Given the description of an element on the screen output the (x, y) to click on. 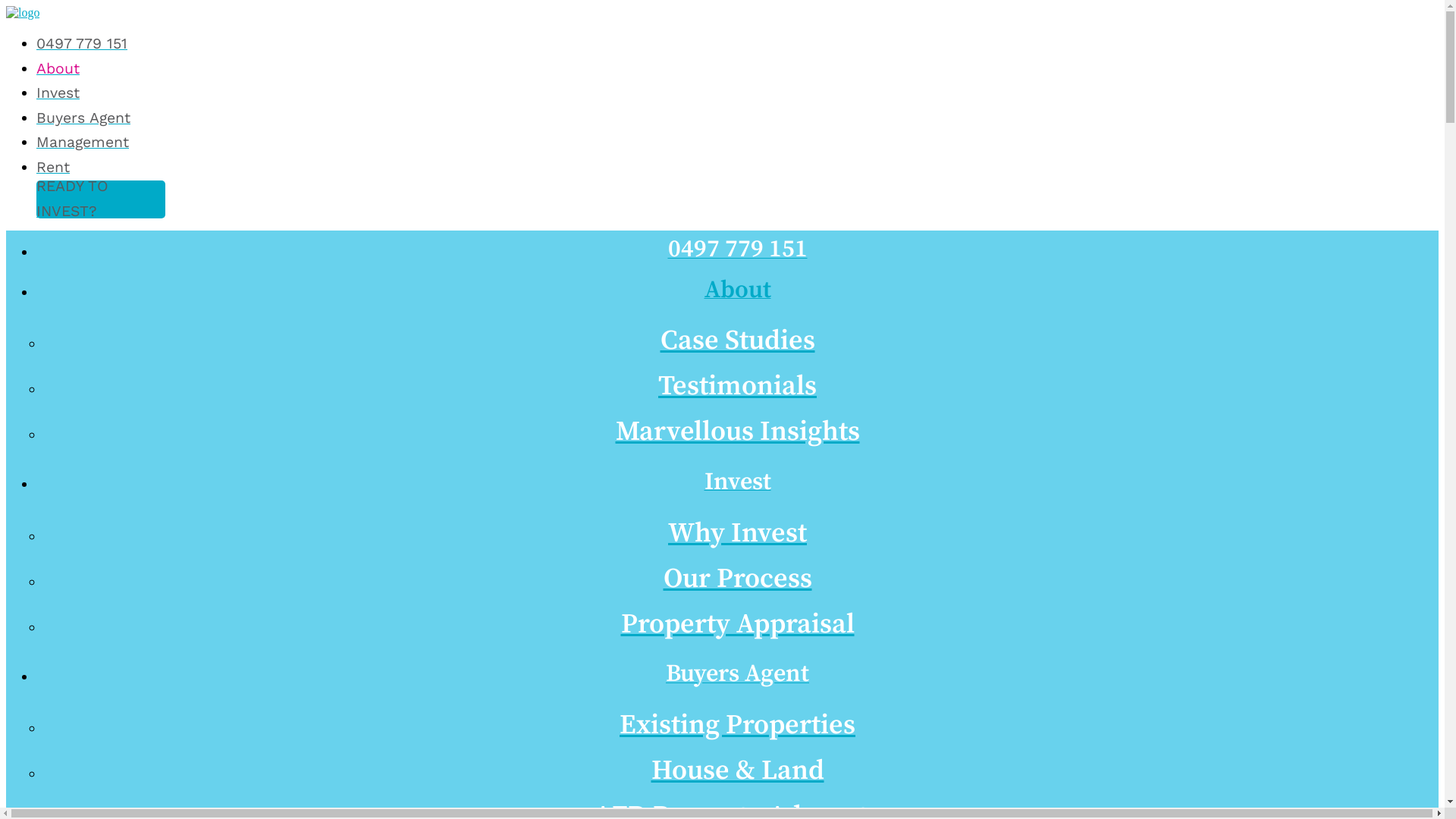
Management Element type: text (82, 141)
Marvel Realty Element type: hover (22, 12)
READY TO INVEST? Element type: text (100, 198)
House & Land Element type: text (736, 770)
Why Invest Element type: text (736, 533)
Existing Properties Element type: text (736, 725)
Invest Element type: text (736, 485)
Buyers Agent Element type: text (83, 117)
About Element type: text (736, 293)
About Element type: text (57, 68)
Case Studies Element type: text (736, 341)
0497 779 151 Element type: text (736, 252)
Property Appraisal Element type: text (736, 624)
Invest Element type: text (57, 92)
Testimonials Element type: text (736, 386)
Buyers Agent Element type: text (737, 676)
Rent Element type: text (52, 166)
Marvellous Insights Element type: text (736, 432)
Our Process Element type: text (736, 579)
0497 779 151 Element type: text (81, 43)
